Given the description of an element on the screen output the (x, y) to click on. 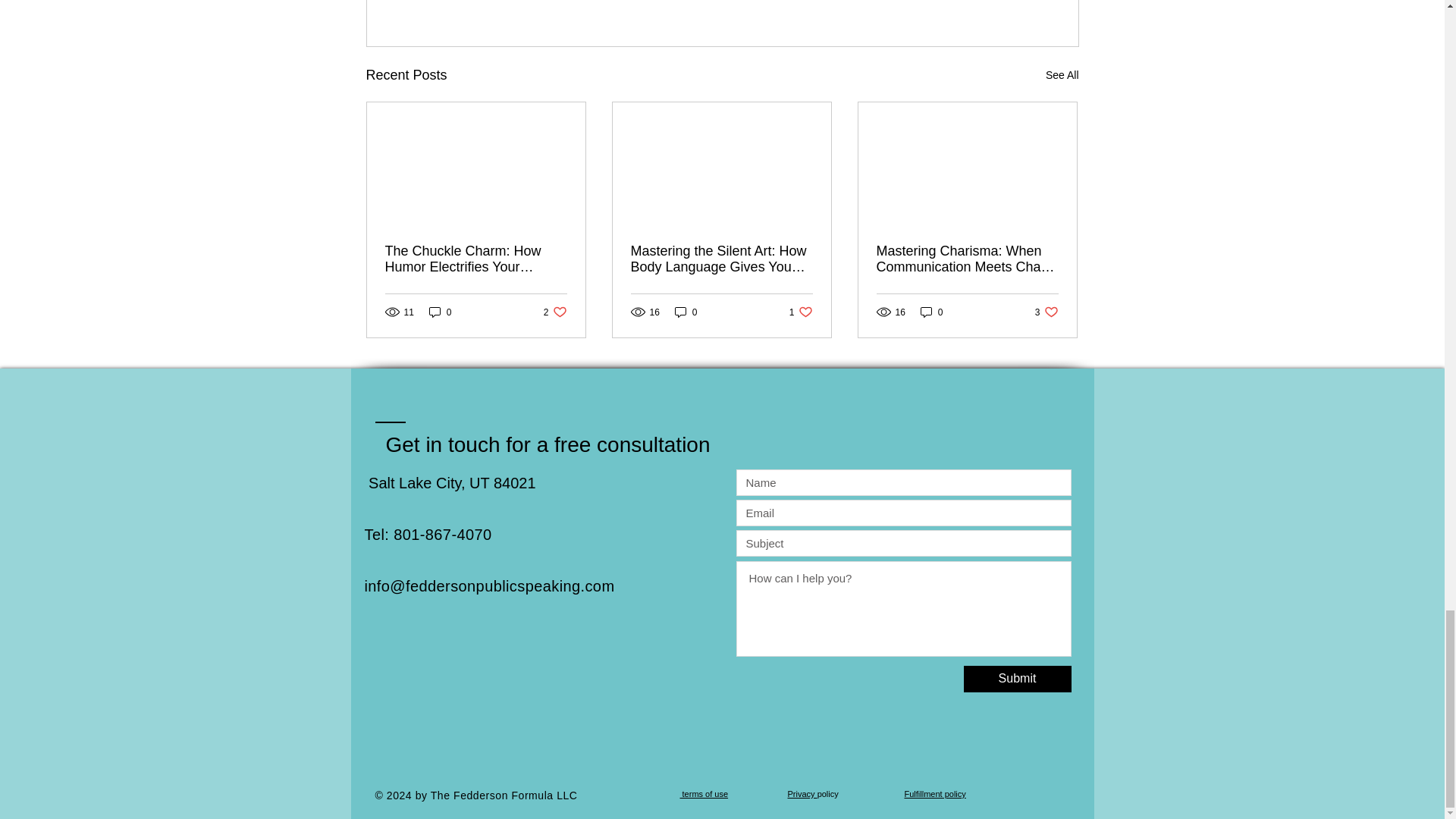
 terms of use (703, 793)
0 (800, 311)
Post not marked as liked (440, 311)
0 (555, 311)
Submit (1046, 311)
See All (685, 311)
The Chuckle Charm: How Humor Electrifies Your Charisma (931, 311)
